Given the description of an element on the screen output the (x, y) to click on. 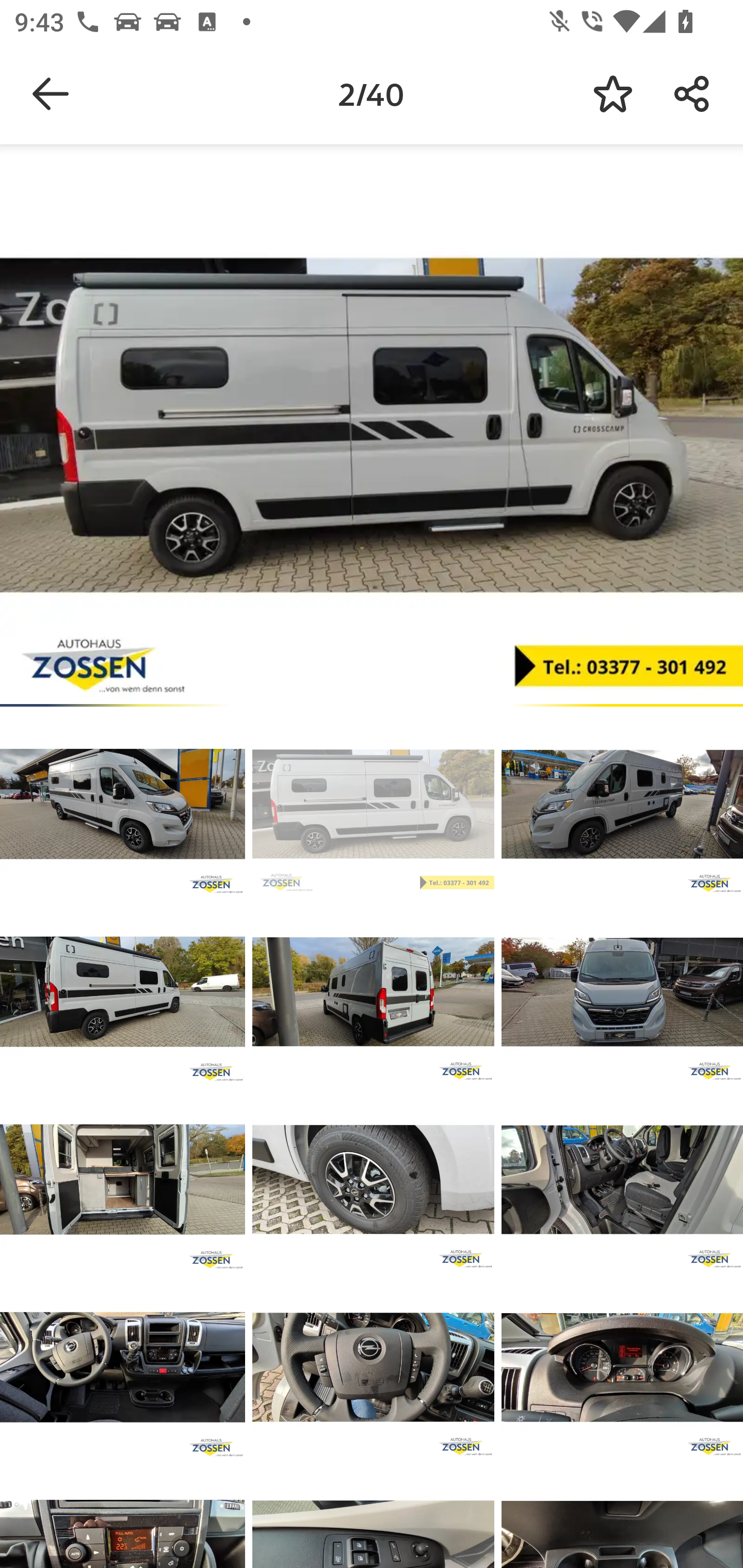
back button (50, 93)
share button (692, 93)
main image view (371, 428)
image (122, 803)
image (373, 803)
image (622, 803)
image (122, 991)
image (373, 991)
image (622, 991)
image (122, 1179)
image (373, 1179)
image (622, 1179)
image (122, 1367)
image (373, 1367)
image (622, 1367)
